Given the description of an element on the screen output the (x, y) to click on. 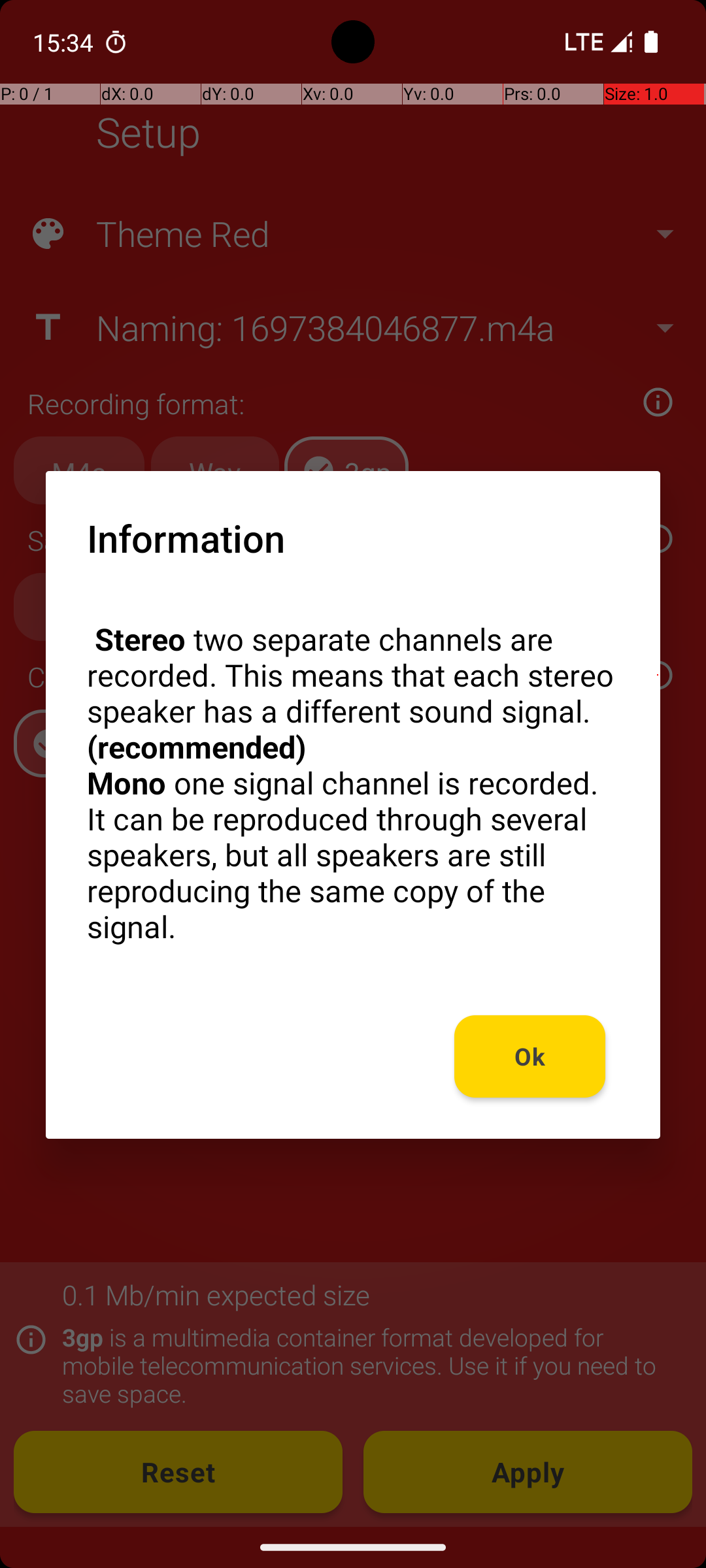
Information Element type: android.widget.TextView (185, 537)
 Stereo two separate channels are recorded. This means that each stereo speaker has a different sound signal. (recommended) 
Mono one signal channel is recorded. It can be reproduced through several speakers, but all speakers are still reproducing the same copy of the signal.  Element type: android.widget.TextView (352, 782)
Ok Element type: android.widget.Button (529, 1056)
Clock notification:  Element type: android.widget.ImageView (115, 41)
